Given the description of an element on the screen output the (x, y) to click on. 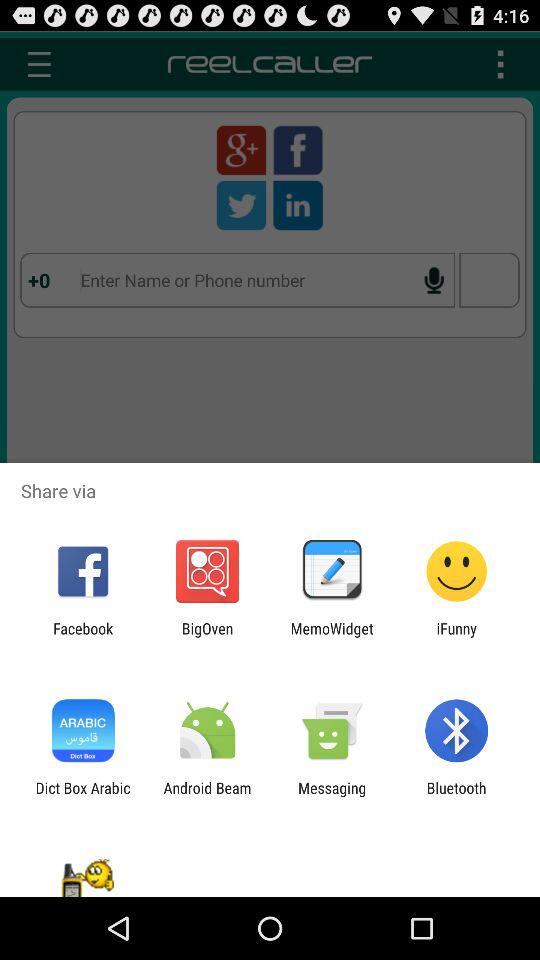
turn off the bigoven (207, 637)
